Given the description of an element on the screen output the (x, y) to click on. 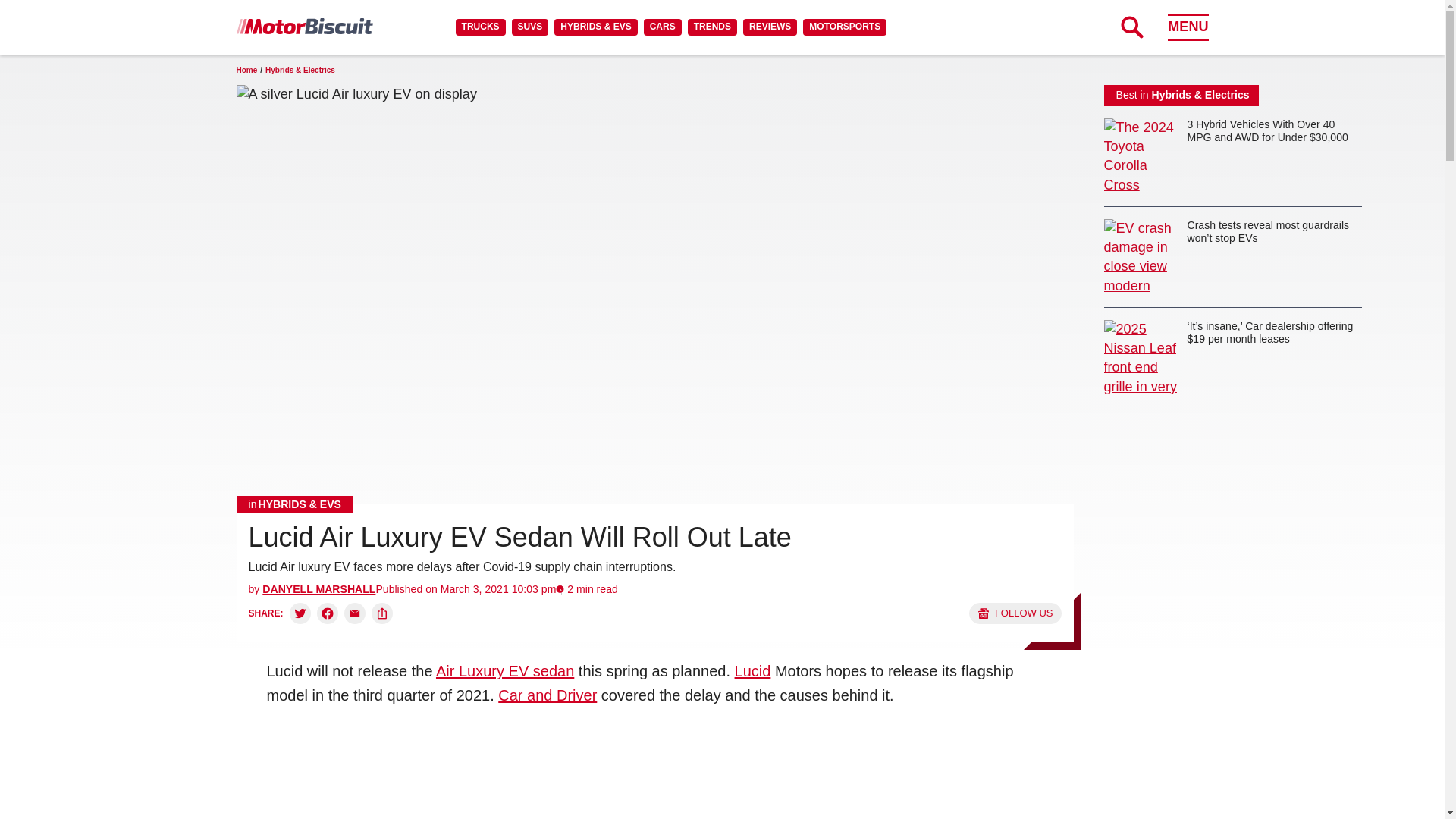
TRUCKS (480, 26)
TRENDS (711, 26)
Expand Search (1131, 26)
SUVS (530, 26)
Copy link and share:  (382, 613)
Follow us on Google News (1015, 613)
REVIEWS (769, 26)
MENU (1187, 26)
MOTORSPORTS (844, 26)
CARS (662, 26)
MotorBiscuit (303, 26)
